Given the description of an element on the screen output the (x, y) to click on. 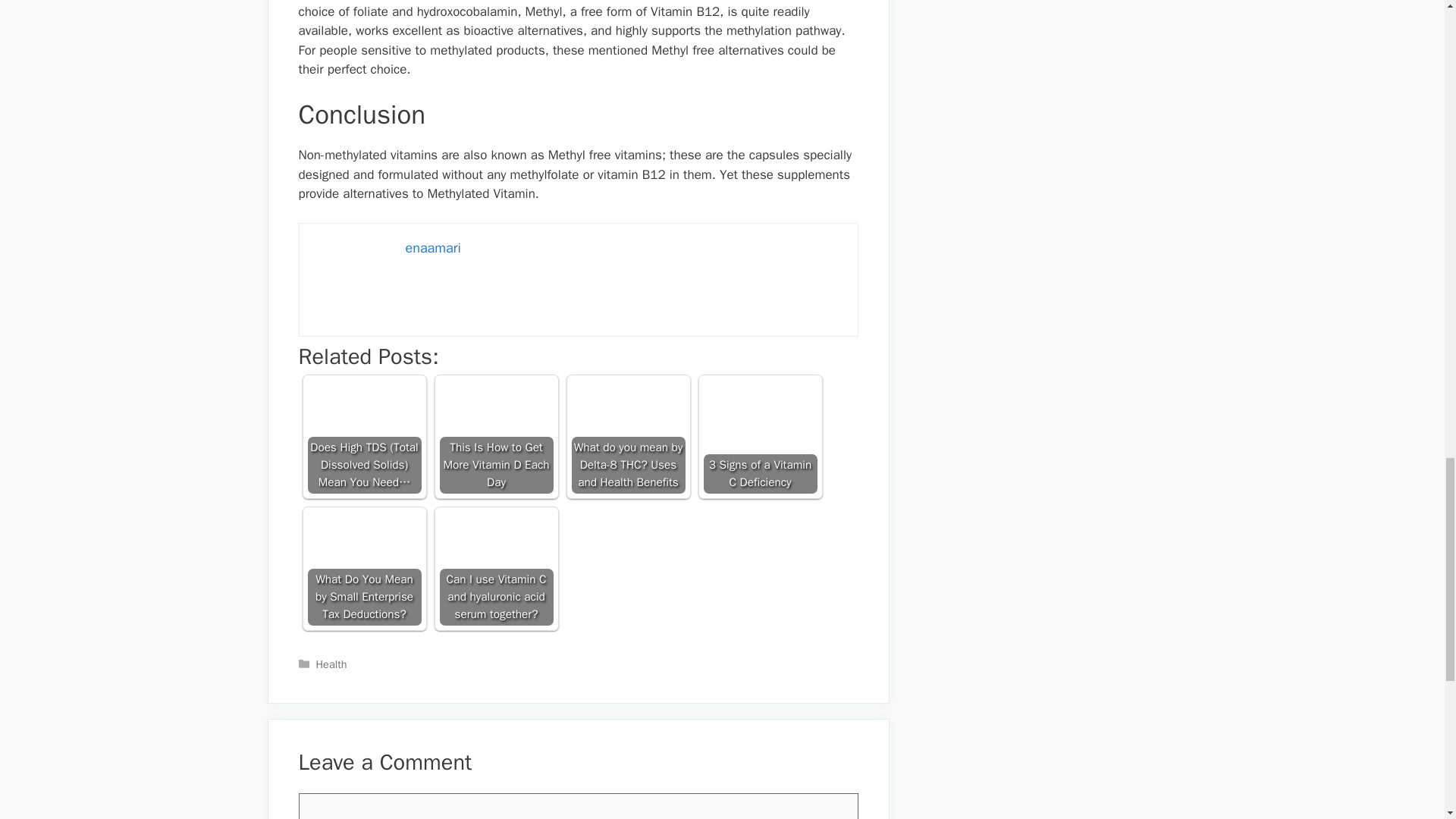
3 Signs of a Vitamin C Deficiency (759, 436)
Health (331, 663)
This Is How to Get More Vitamin D Each Day (496, 436)
enaamari (432, 247)
3 Signs of a Vitamin C Deficiency (759, 436)
Can I use Vitamin C and hyaluronic acid serum together? (496, 568)
What do you mean by Delta-8 THC? Uses and Health Benefits (628, 436)
What do you mean by Delta-8 THC? Uses and Health Benefits (628, 436)
What Do You Mean by Small Enterprise Tax Deductions? (364, 568)
This Is How to Get More Vitamin D Each Day (496, 436)
